Given the description of an element on the screen output the (x, y) to click on. 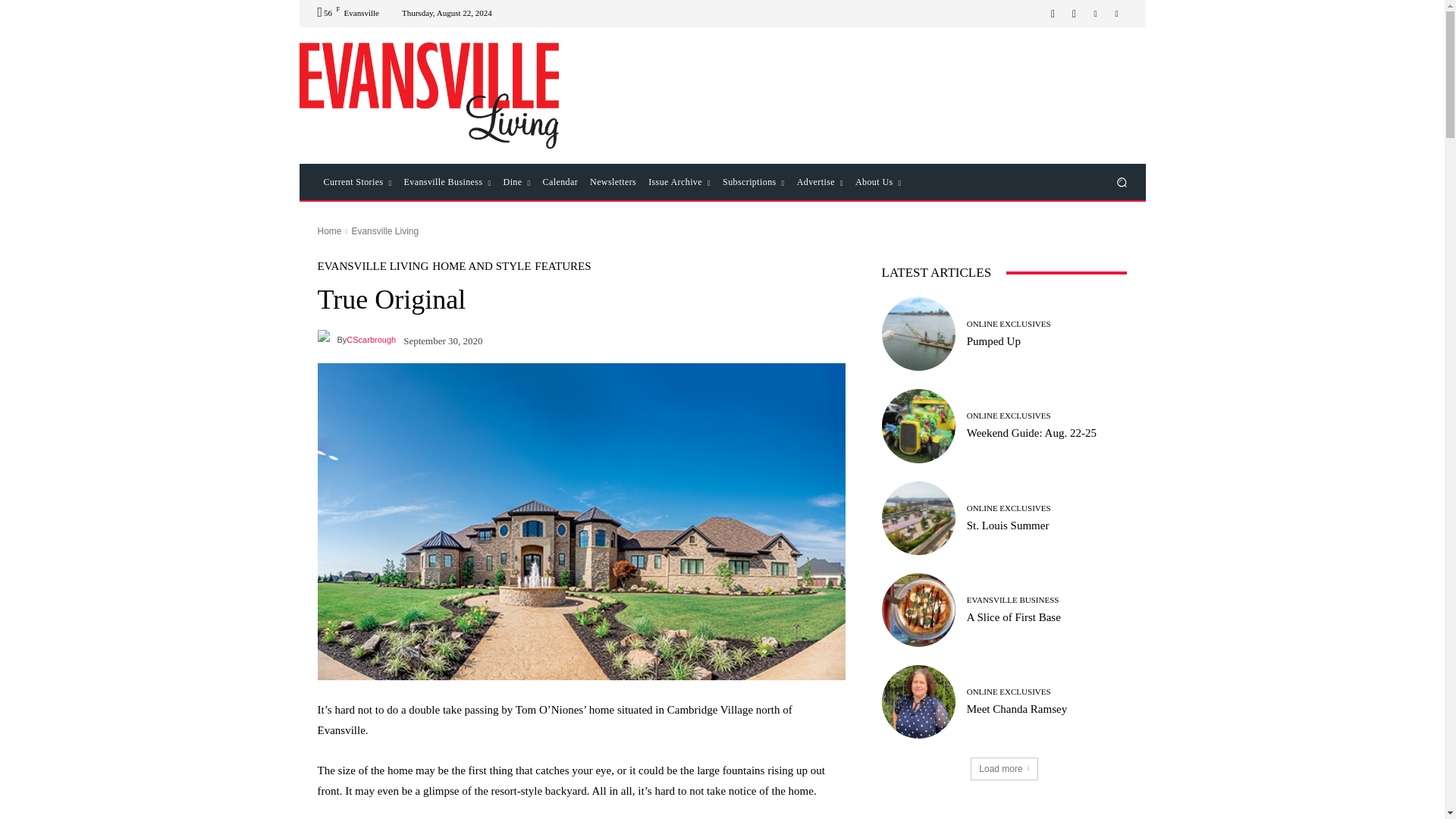
Twitter (1115, 13)
View all posts in Evansville Living (384, 231)
Linkedin (1094, 13)
Facebook (1052, 13)
CScarbrough (326, 339)
Instagram (1073, 13)
